Given the description of an element on the screen output the (x, y) to click on. 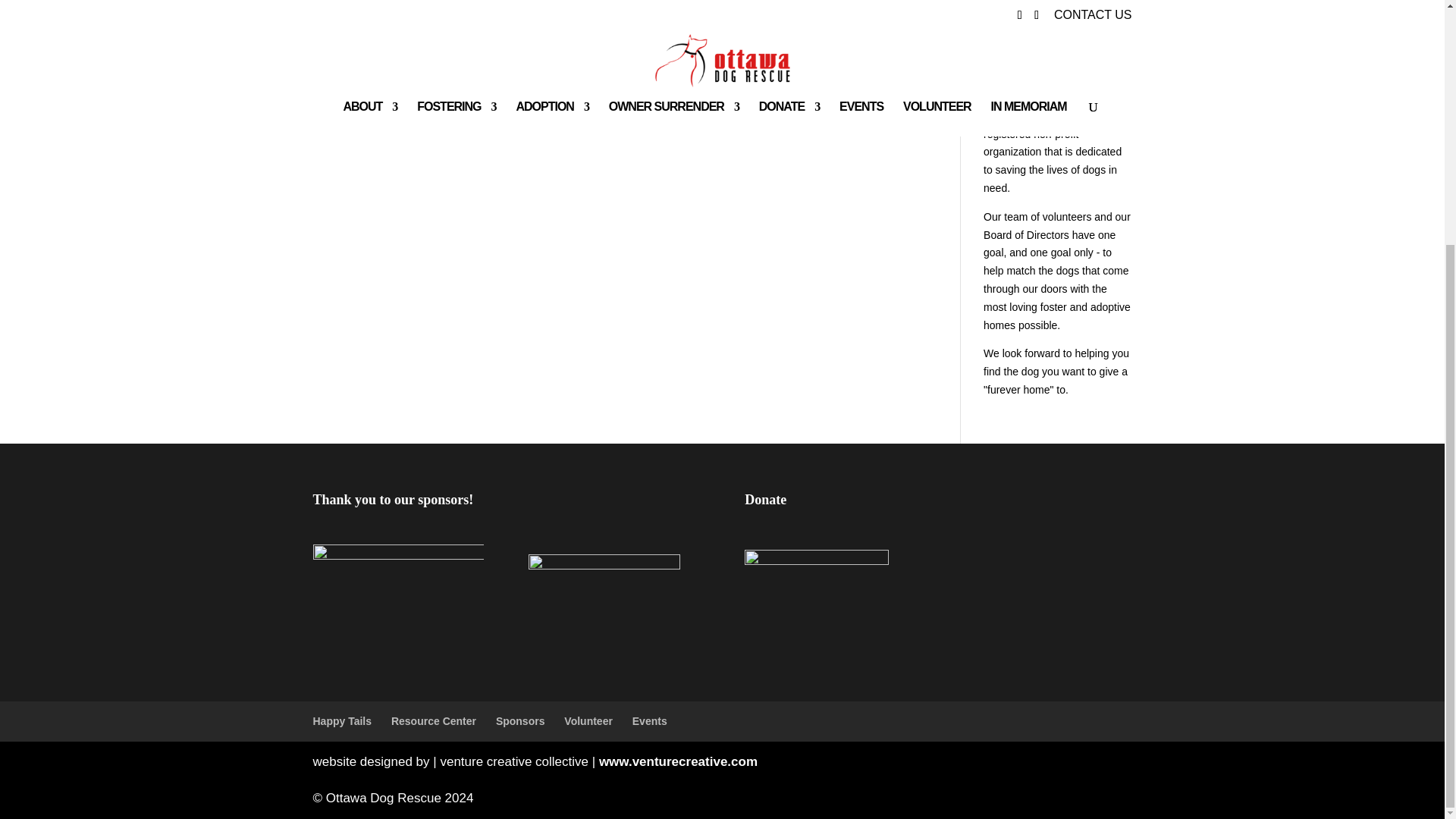
Volunteer (588, 720)
Sponsors (520, 720)
Happy Tails (342, 720)
Resource Center (433, 720)
donation (1004, 21)
